Given the description of an element on the screen output the (x, y) to click on. 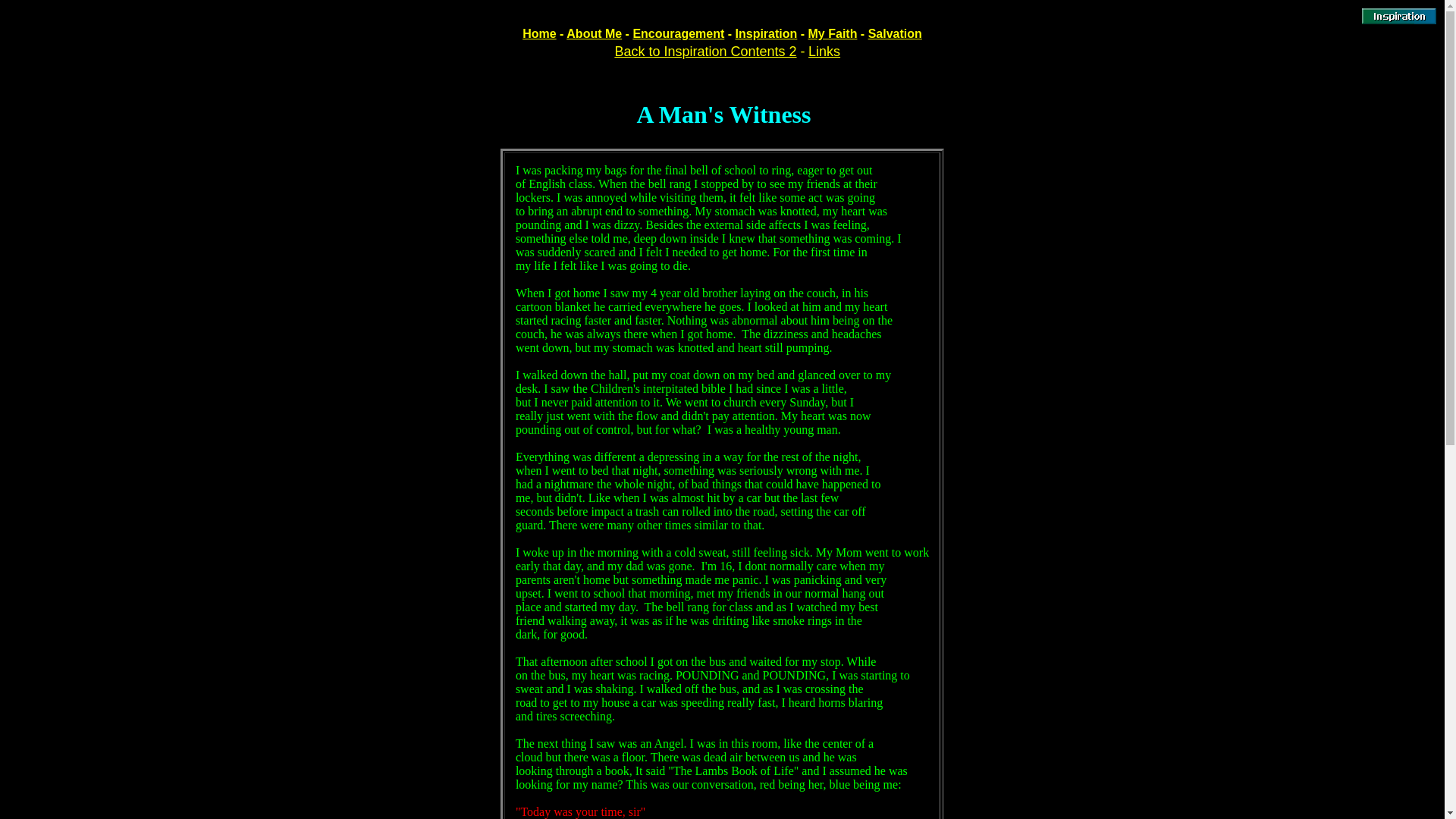
Back to Inspiration Contents 2 (705, 51)
My Faith (832, 33)
Inspiration (766, 33)
Links (824, 51)
Home (539, 33)
About Me (593, 33)
Salvation (894, 33)
Encouragement (677, 33)
